Given the description of an element on the screen output the (x, y) to click on. 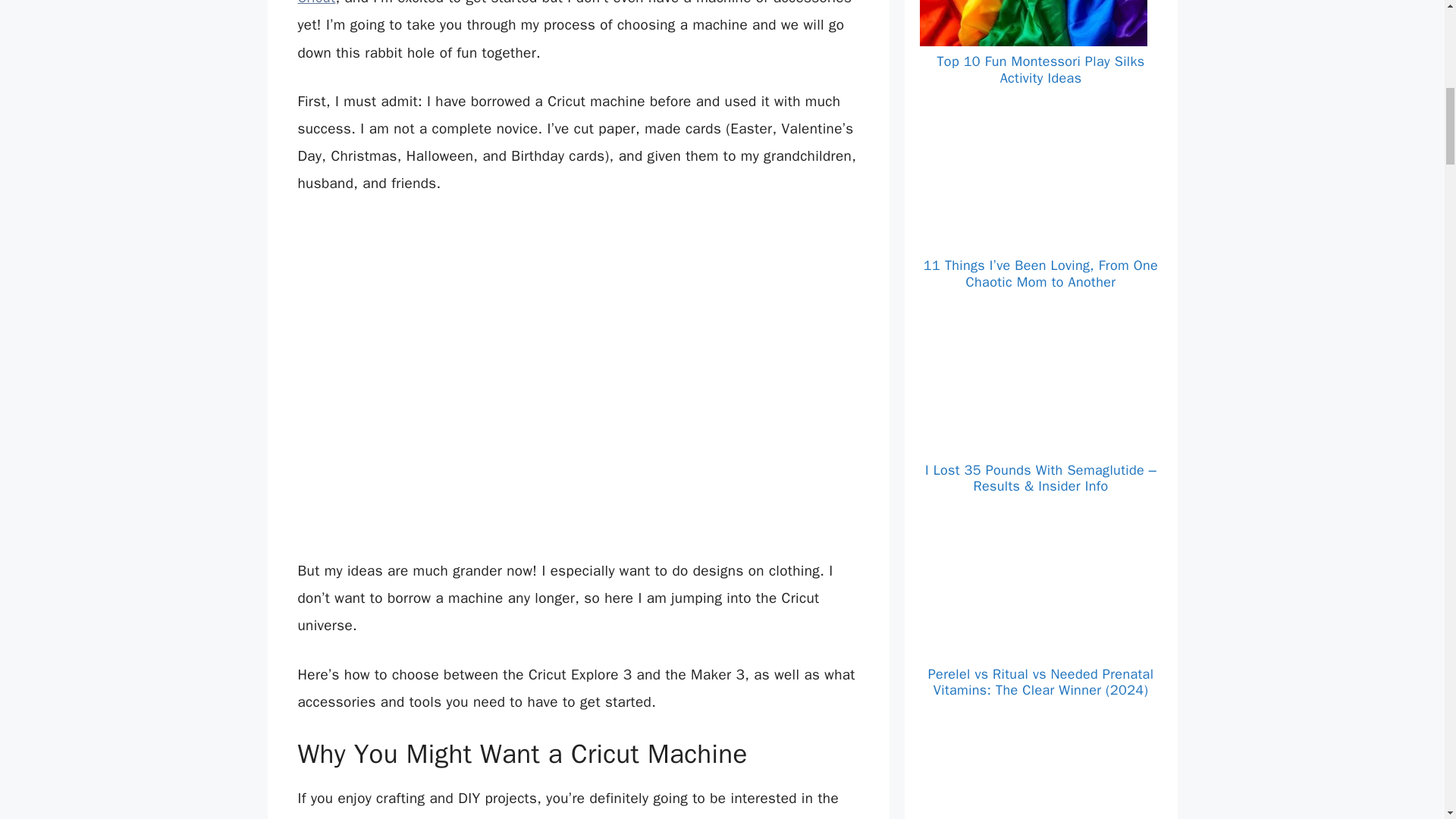
Top 10 Fun Montessori Play Silks Activity Ideas (1040, 69)
Scroll back to top (1406, 720)
Cricut (315, 3)
